Given the description of an element on the screen output the (x, y) to click on. 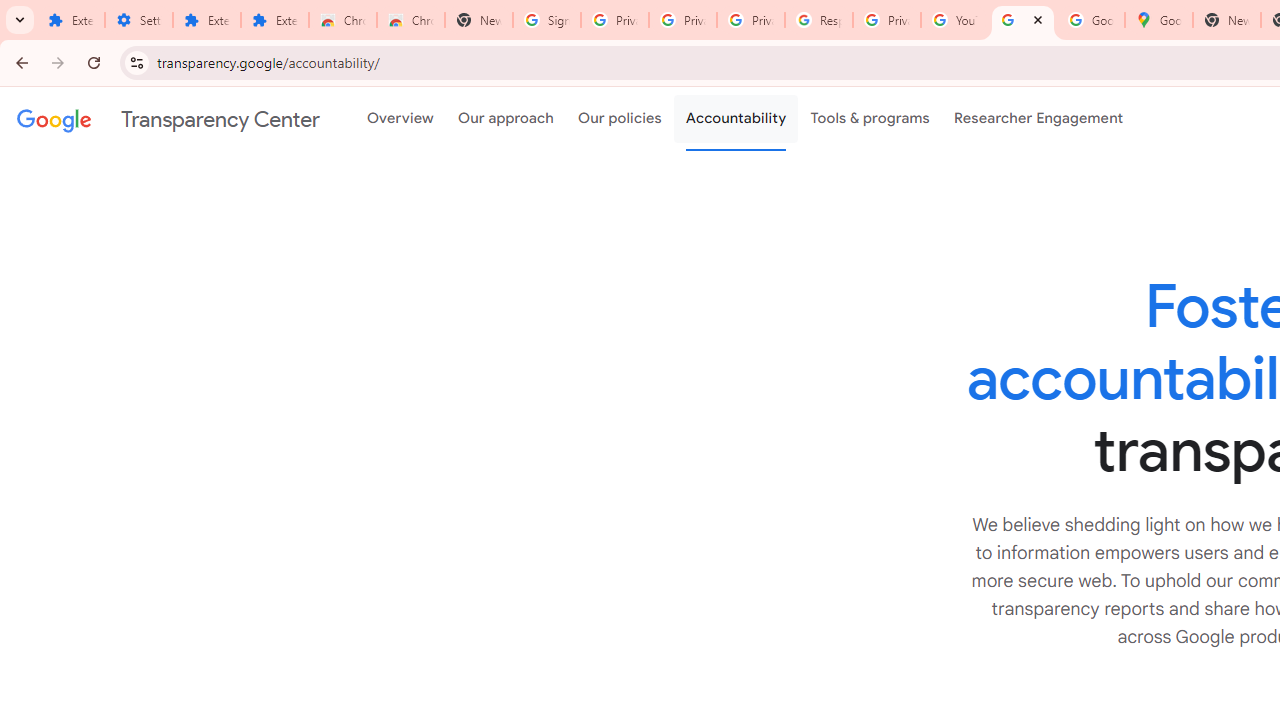
Chrome Web Store - Themes (411, 20)
Researcher Engagement (1038, 119)
